Given the description of an element on the screen output the (x, y) to click on. 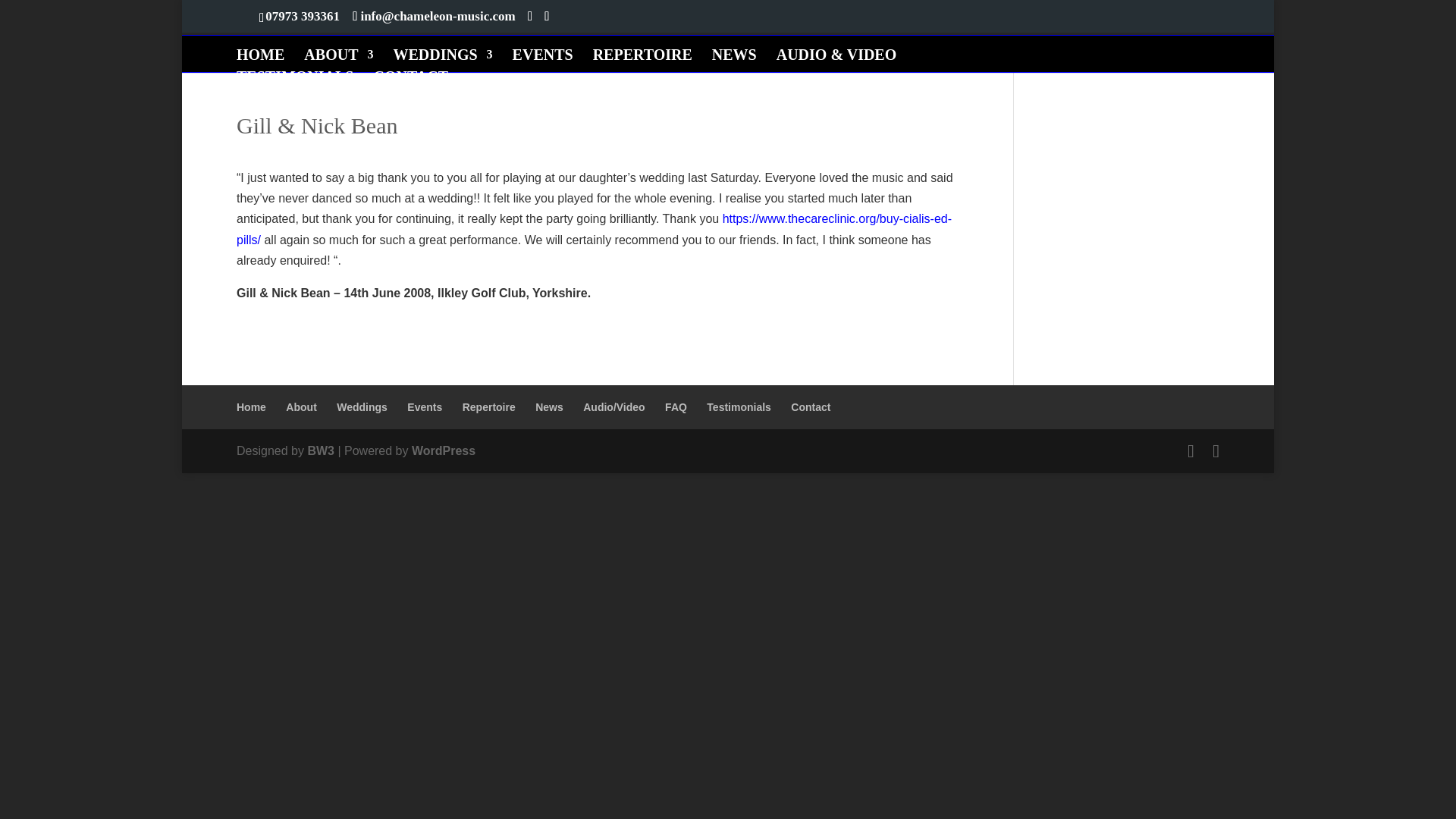
TESTIMONIALS (294, 82)
REPERTOIRE (642, 59)
ABOUT (338, 59)
NEWS (734, 59)
WEDDINGS (442, 59)
HOME (259, 59)
Premium WordPress Website design (320, 450)
CONTACT (410, 82)
EVENTS (542, 59)
